Given the description of an element on the screen output the (x, y) to click on. 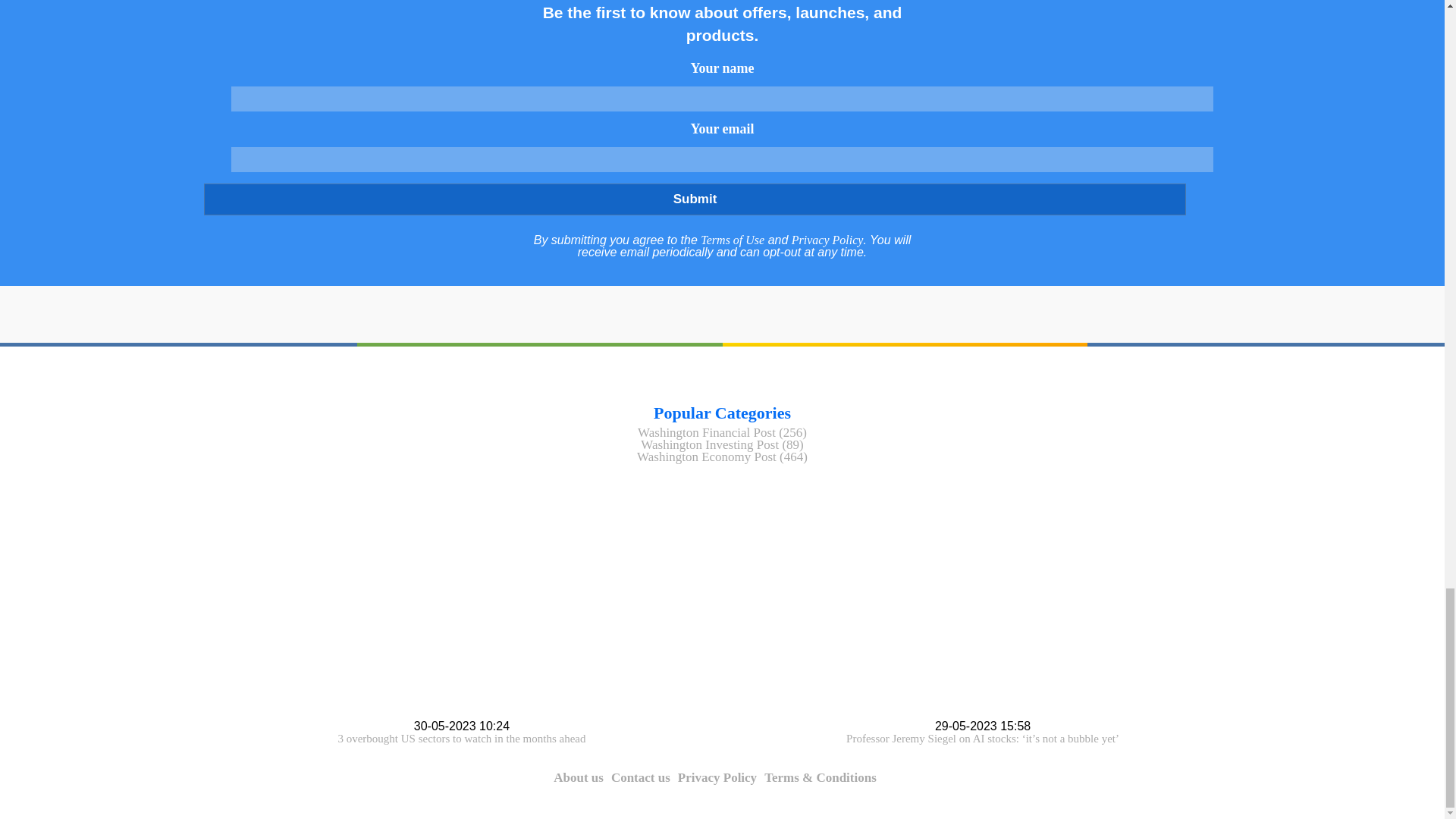
Submit (694, 199)
